Given the description of an element on the screen output the (x, y) to click on. 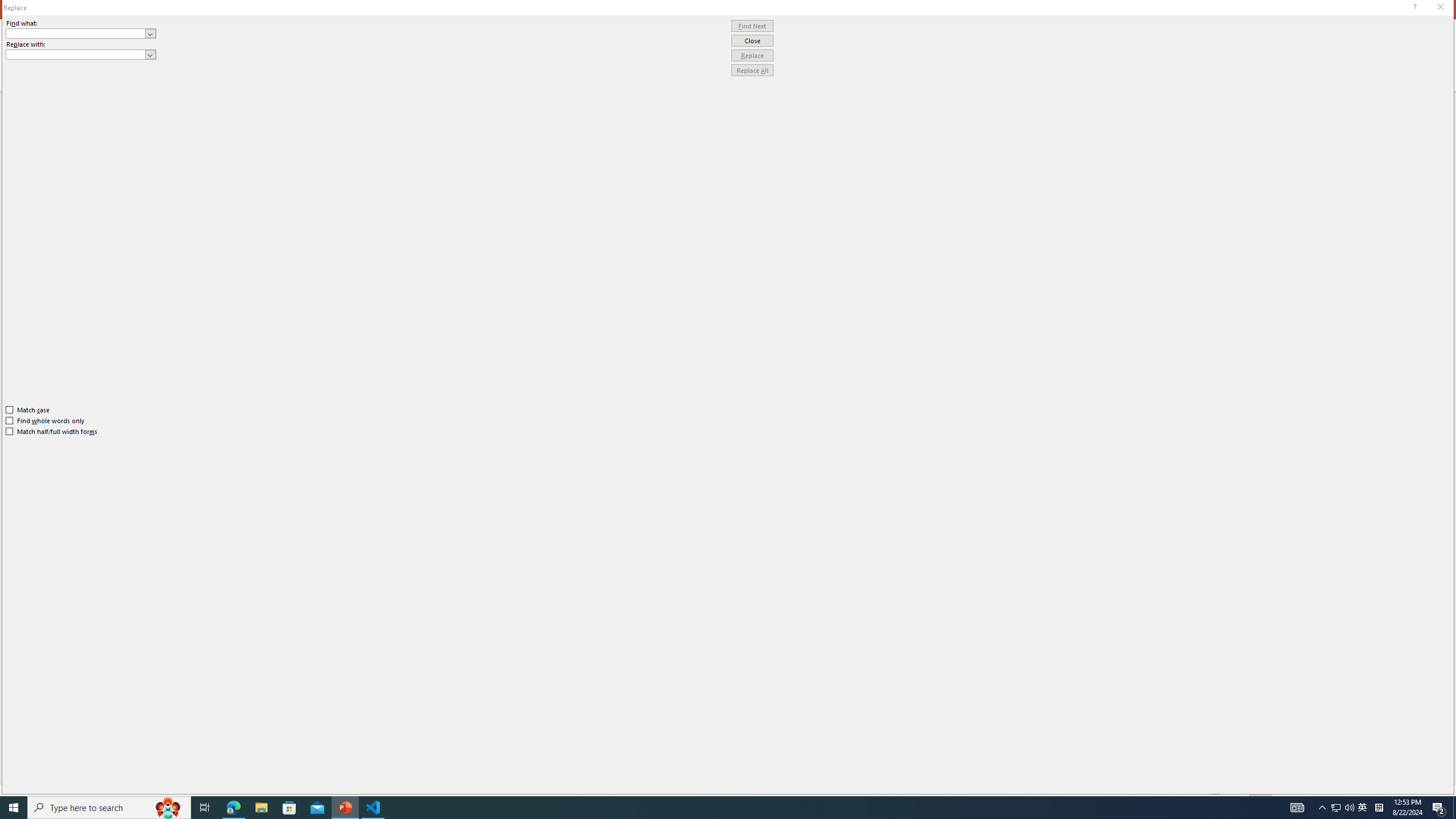
Find whole words only (45, 420)
Recommended Design: Design Idea (1366, 162)
